Given the description of an element on the screen output the (x, y) to click on. 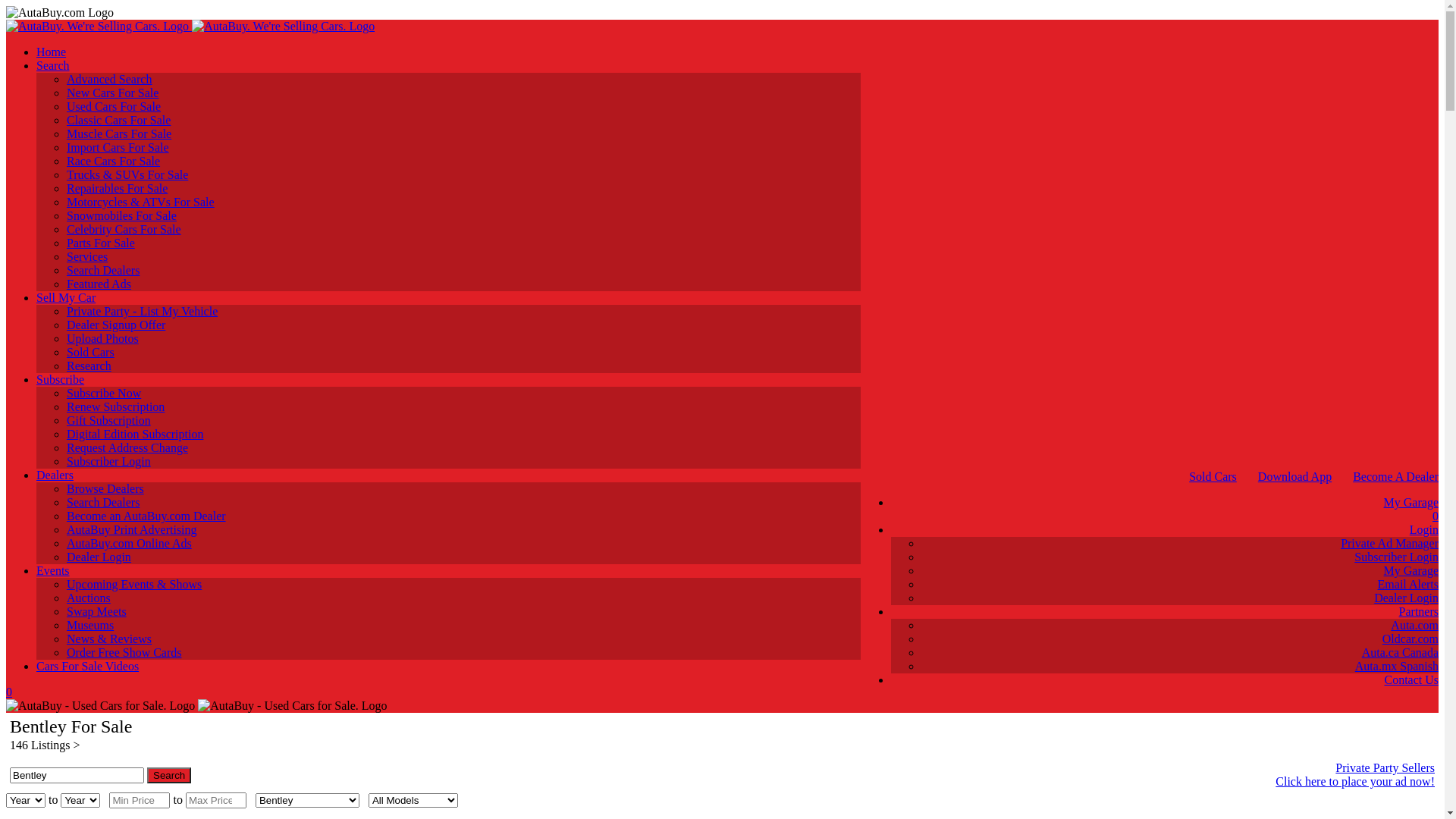
Events Element type: text (52, 570)
Upcoming Events & Shows Element type: text (133, 583)
Download App Element type: text (1294, 476)
Subscriber Login Element type: text (108, 461)
Celebrity Cars For Sale Element type: text (123, 228)
Swap Meets Element type: text (96, 611)
Subscribe Now Element type: text (103, 392)
Order Free Show Cards Element type: text (124, 652)
AutaBuy Print Advertising Element type: text (131, 529)
Advanced Search Element type: text (108, 78)
My Garage
0 Element type: text (1164, 509)
Motorcycles & ATVs For Sale Element type: text (140, 201)
Upload Photos Element type: text (102, 338)
Private Ad Manager Element type: text (1389, 542)
Research Element type: text (88, 365)
AutaBuy. We're Selling Cars. Element type: hover (190, 25)
Renew Subscription Element type: text (115, 406)
Auta.ca Canada Element type: text (1399, 652)
News & Reviews Element type: text (108, 638)
Auta.com Element type: text (1414, 624)
Cars For Sale Videos Element type: text (87, 665)
Browse Dealers Element type: text (105, 488)
Digital Edition Subscription Element type: text (134, 433)
Auta.mx Spanish Element type: text (1396, 665)
Gift Subscription Element type: text (108, 420)
Request Address Change Element type: text (127, 447)
Search Element type: text (52, 65)
Sell My Car Element type: text (65, 297)
Contact Us Element type: text (1410, 679)
Search Dealers Element type: text (102, 269)
My Garage Element type: text (1410, 570)
Snowmobiles For Sale Element type: text (121, 215)
Home Element type: text (50, 51)
Auctions Element type: text (88, 597)
Dealers Element type: text (54, 474)
Repairables For Sale Element type: text (116, 188)
AutaBuy.com Online Ads Element type: text (128, 542)
Oldcar.com Element type: text (1410, 638)
Subscribe Element type: text (60, 379)
Partners Element type: text (1418, 611)
Dealer Signup Offer Element type: text (115, 324)
Services Element type: text (86, 256)
Email Alerts Element type: text (1407, 583)
0 Element type: text (433, 692)
Dealer Login Element type: text (98, 556)
Become A Dealer Element type: text (1395, 476)
Parts For Sale Element type: text (100, 242)
Private Party Sellers
Click here to place your ad now! Element type: text (1101, 774)
Trucks & SUVs For Sale Element type: text (127, 174)
Sold Cars Element type: text (90, 351)
Import Cars For Sale Element type: text (117, 147)
Search Dealers Element type: text (102, 501)
Museums Element type: text (89, 624)
Muscle Cars For Sale Element type: text (118, 133)
Subscriber Login Element type: text (1396, 556)
Race Cars For Sale Element type: text (113, 160)
Classic Cars For Sale Element type: text (118, 119)
New Cars For Sale Element type: text (112, 92)
Featured Ads Element type: text (98, 283)
Login Element type: text (1423, 529)
Private Party - List My Vehicle Element type: text (141, 310)
Become an AutaBuy.com Dealer Element type: text (145, 515)
Sold Cars Element type: text (1212, 476)
Dealer Login Element type: text (1406, 597)
Used Cars For Sale Element type: text (113, 106)
